Given the description of an element on the screen output the (x, y) to click on. 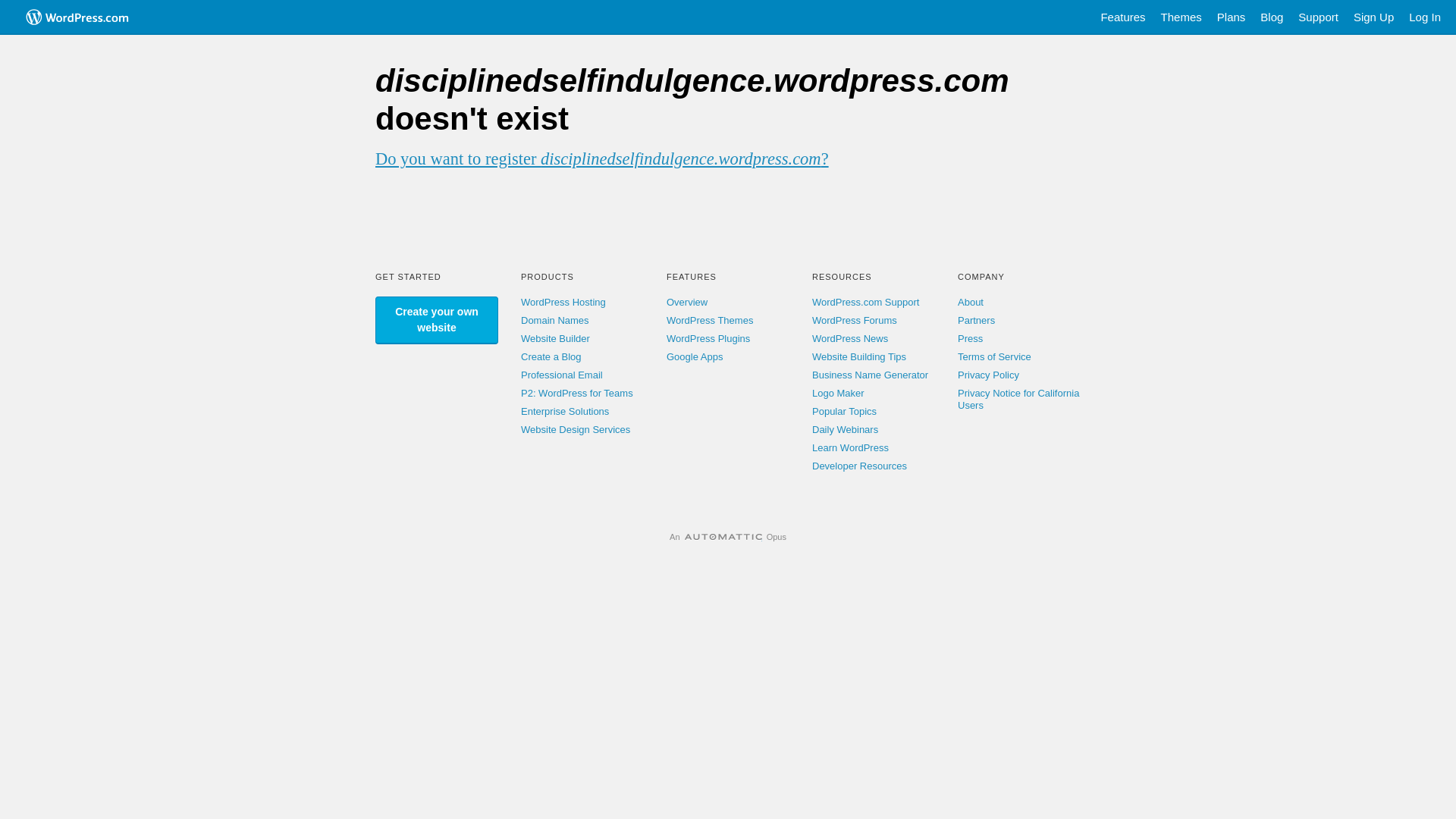
WordPress Forums Element type: text (854, 320)
WordPress Plugins Element type: text (707, 338)
Daily Webinars Element type: text (845, 429)
Enterprise Solutions Element type: text (564, 411)
WordPress News Element type: text (850, 338)
Support Element type: text (1318, 17)
Website Builder Element type: text (554, 338)
Create your own website Element type: text (436, 320)
Website Building Tips Element type: text (859, 356)
Privacy Notice for California Users Element type: text (1018, 399)
Features Element type: text (1122, 17)
Business Name Generator Element type: text (870, 374)
Professional Email Element type: text (561, 374)
Developer Resources Element type: text (859, 465)
Create a Blog Element type: text (550, 356)
Popular Topics Element type: text (844, 411)
Sign Up Element type: text (1373, 17)
About Element type: text (970, 301)
Automattic Element type: text (723, 536)
Privacy Policy Element type: text (988, 374)
Terms of Service Element type: text (994, 356)
Website Design Services Element type: text (575, 429)
Plans Element type: text (1231, 17)
P2: WordPress for Teams Element type: text (576, 392)
WordPress Hosting Element type: text (562, 301)
WordPress.com Support Element type: text (865, 301)
WordPress Themes Element type: text (709, 320)
Google Apps Element type: text (694, 356)
Press Element type: text (969, 338)
Logo Maker Element type: text (838, 392)
Partners Element type: text (975, 320)
Overview Element type: text (686, 301)
Blog Element type: text (1271, 17)
Domain Names Element type: text (554, 320)
Log In Element type: text (1424, 17)
Themes Element type: text (1181, 17)
Learn WordPress Element type: text (850, 447)
